Given the description of an element on the screen output the (x, y) to click on. 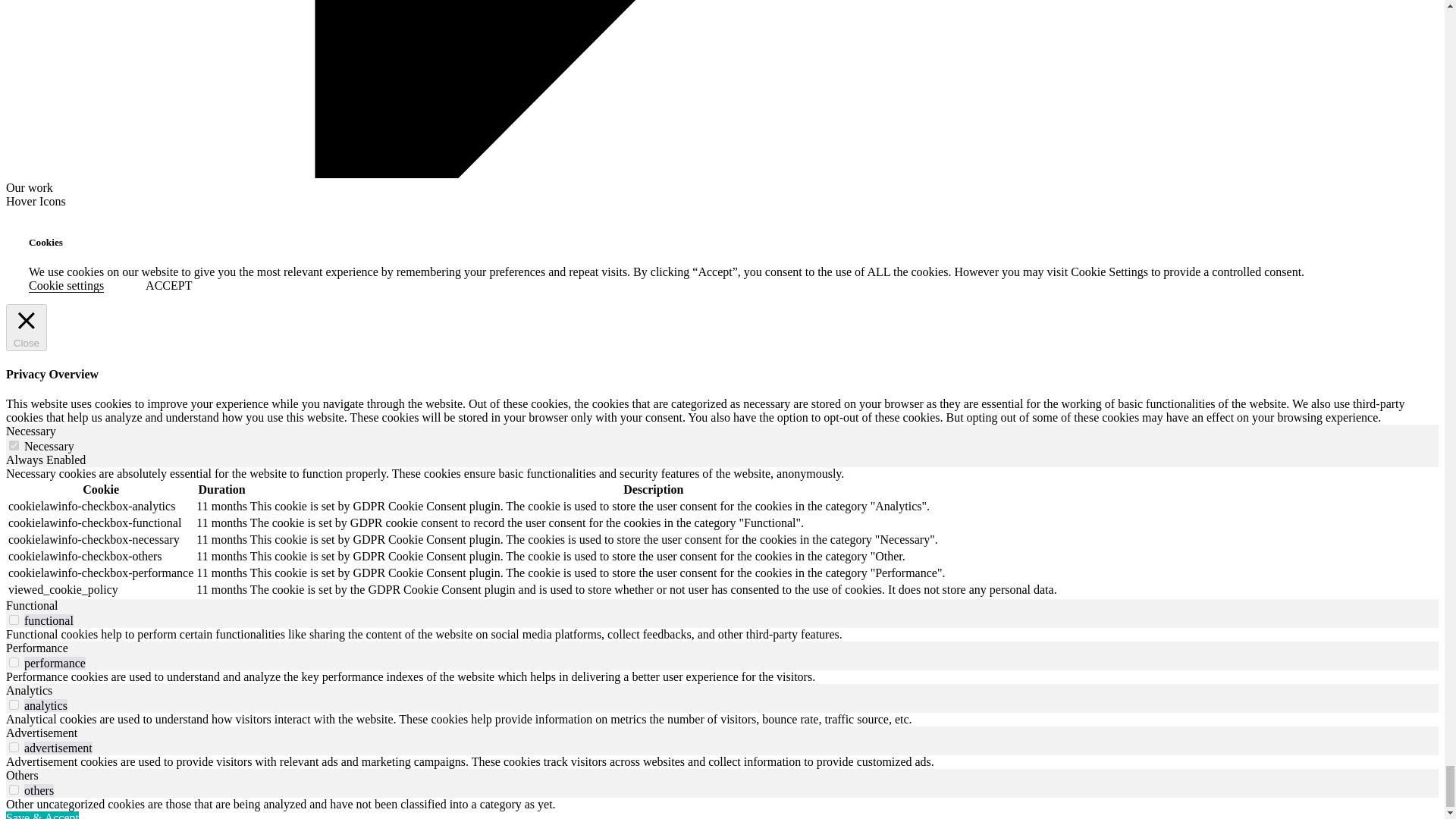
on (13, 619)
on (13, 445)
on (13, 789)
on (13, 662)
on (13, 747)
on (13, 705)
